Given the description of an element on the screen output the (x, y) to click on. 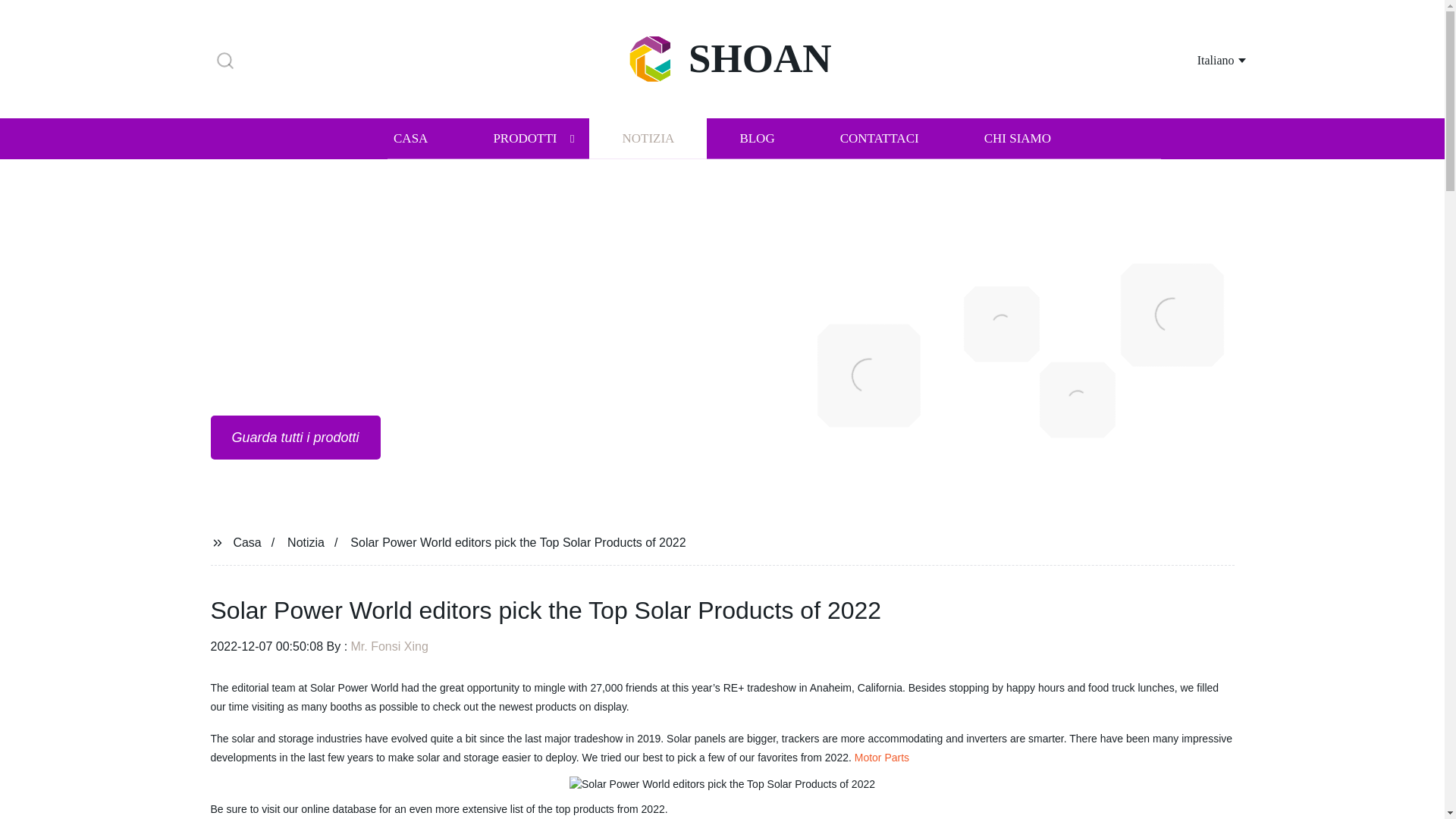
Casa (246, 541)
CONTATTACI (880, 137)
Notizia (305, 541)
CHI SIAMO (1017, 137)
Italiano (1203, 59)
CASA (410, 137)
PRODOTTI (524, 137)
BLOG (756, 137)
Italiano (1203, 59)
NOTIZIA (647, 137)
Motor Parts (881, 757)
